Given the description of an element on the screen output the (x, y) to click on. 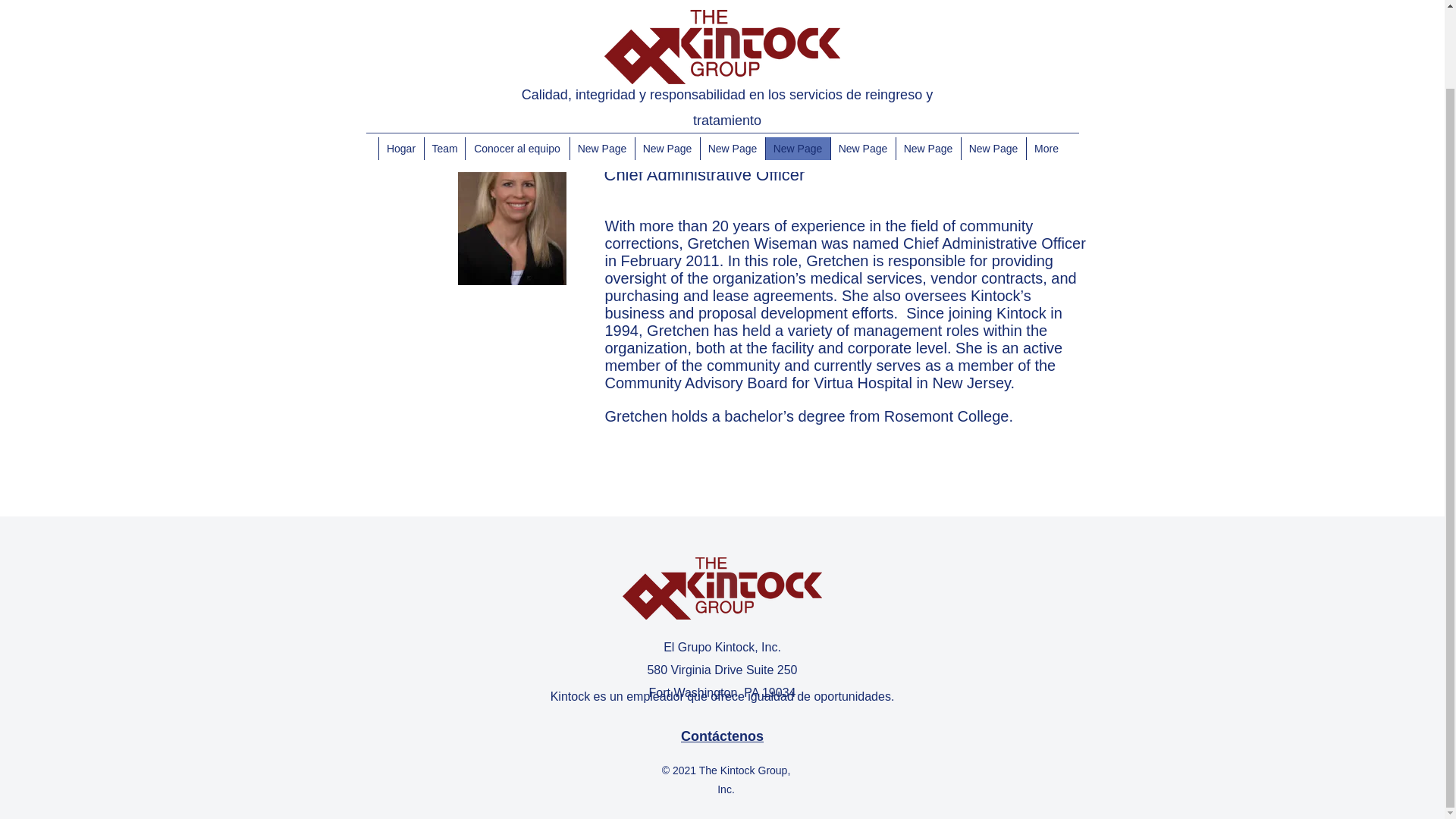
New Page (601, 59)
Hogar (400, 59)
Conocer al equipo (516, 59)
New Page (992, 59)
New Page (796, 59)
New Page (927, 59)
Team (443, 59)
New Page (862, 59)
New Page (665, 59)
New Page (731, 59)
